Given the description of an element on the screen output the (x, y) to click on. 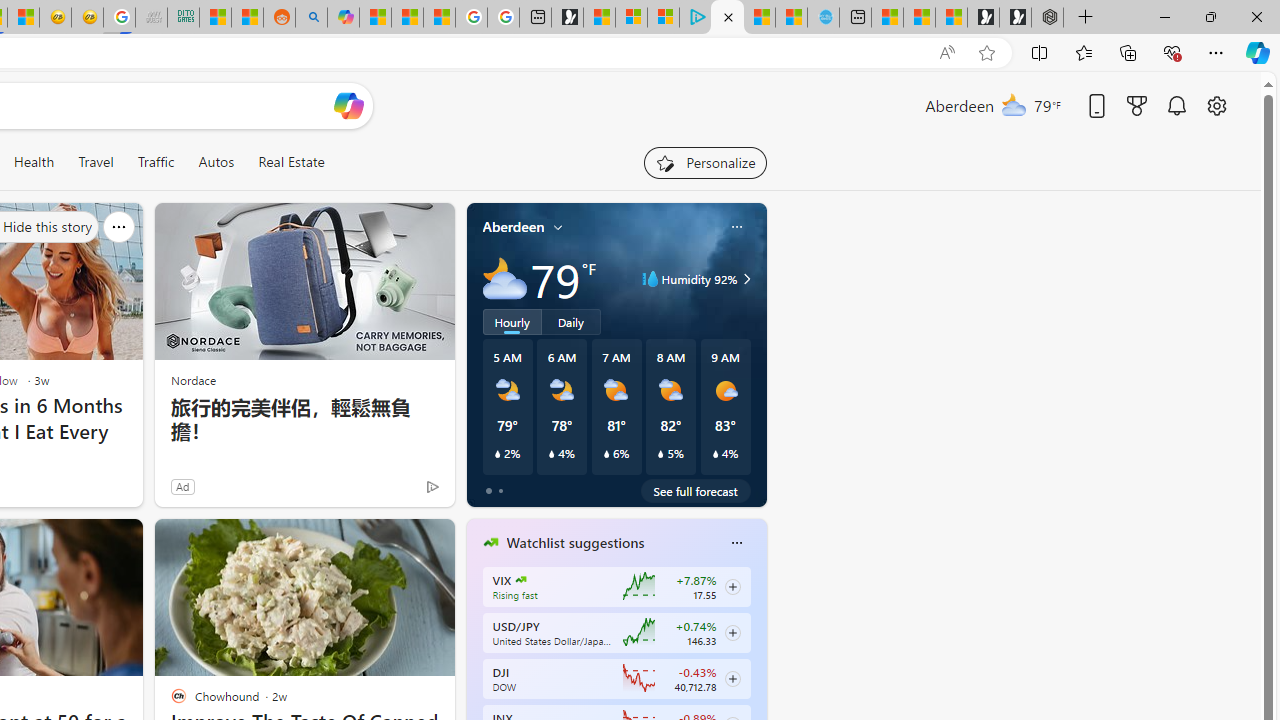
Humidity 92% (744, 278)
Minimize (1164, 16)
Open settings (1216, 105)
tab-1 (500, 490)
MSNBC - MSN (215, 17)
Navy Quest (151, 17)
New tab (855, 17)
Traffic (155, 161)
Open Copilot (347, 105)
Ad Choice (432, 485)
